Given the description of an element on the screen output the (x, y) to click on. 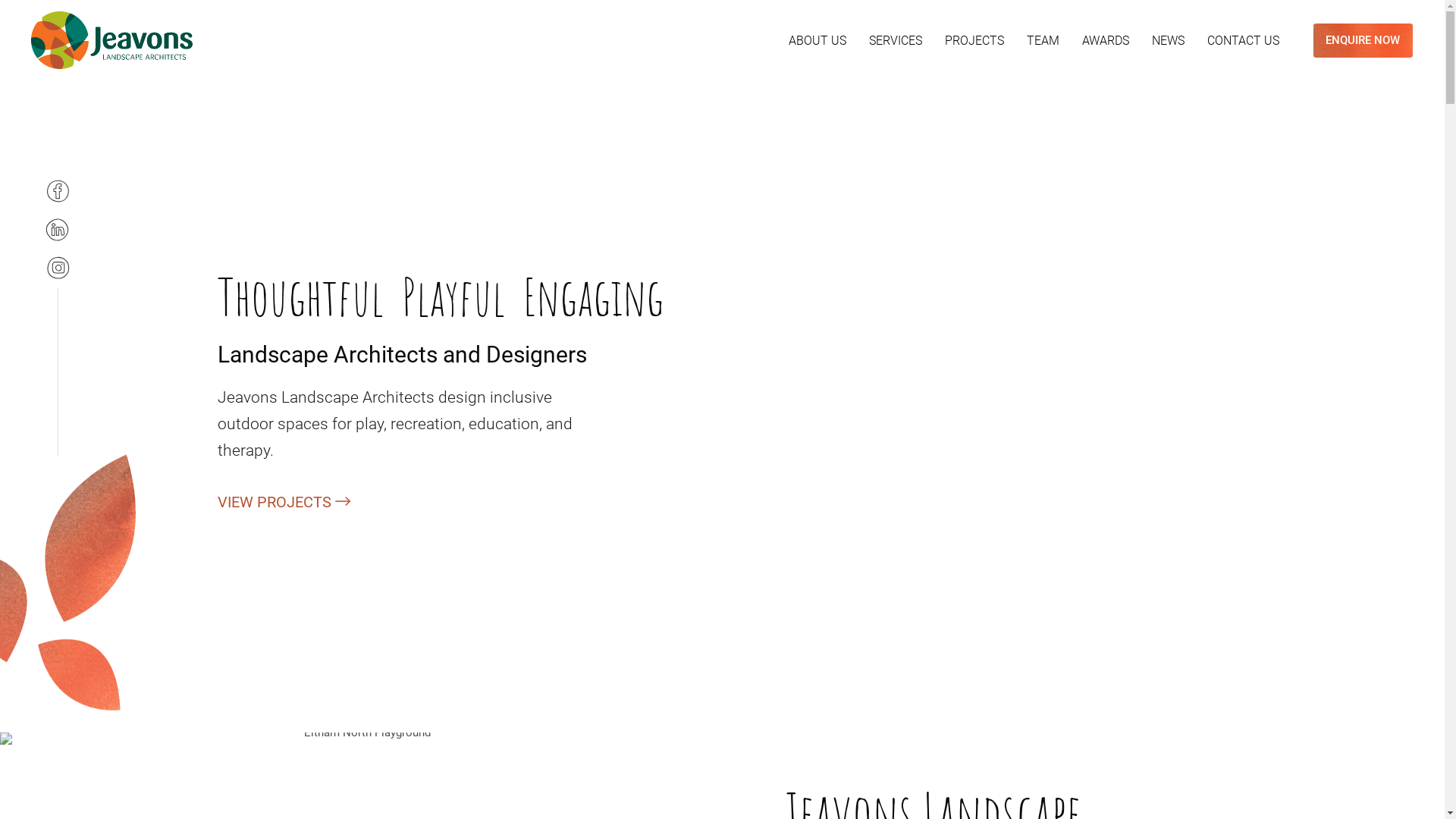
PROJECTS Element type: text (974, 40)
SERVICES Element type: text (895, 40)
CONTACT US Element type: text (1242, 40)
ABOUT US Element type: text (817, 40)
ENQUIRE NOW Element type: text (1362, 39)
TEAM Element type: text (1042, 40)
VIEW PROJECTS Element type: text (274, 501)
NEWS Element type: text (1167, 40)
AWARDS Element type: text (1105, 40)
